Given the description of an element on the screen output the (x, y) to click on. 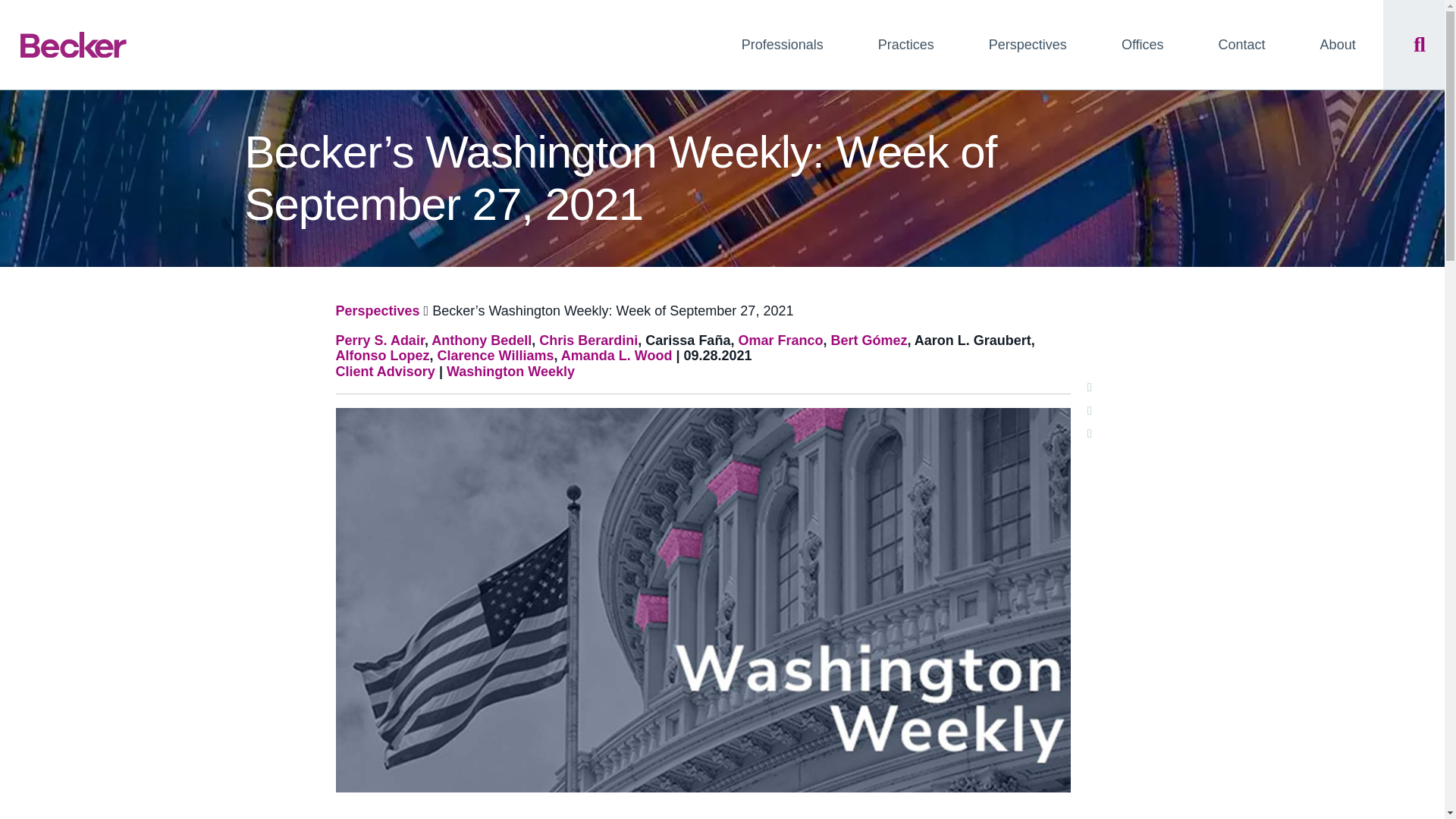
Contact (1241, 44)
Print This Article (1089, 386)
Perry S. Adair (378, 340)
Professionals (782, 44)
Chris Berardini (587, 340)
Amanda L. Wood (616, 355)
Perspectives (376, 310)
Perspectives (1027, 44)
Anthony Bedell (480, 340)
Omar Franco (780, 340)
Alfonso Lopez (381, 355)
About (1337, 44)
Practices (905, 44)
Offices (1142, 44)
